Given the description of an element on the screen output the (x, y) to click on. 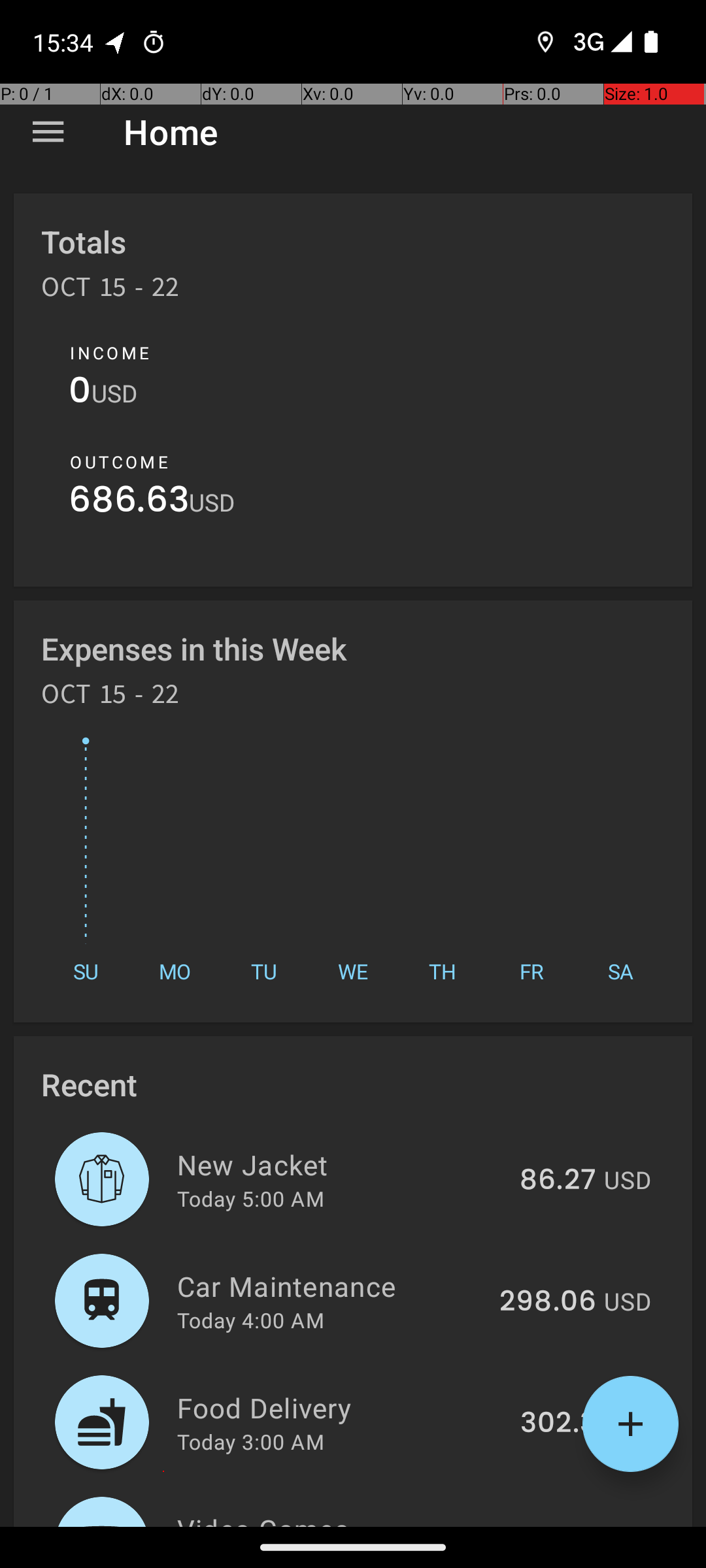
686.63 Element type: android.widget.TextView (128, 502)
New Jacket Element type: android.widget.TextView (340, 1164)
86.27 Element type: android.widget.TextView (557, 1180)
Car Maintenance Element type: android.widget.TextView (330, 1285)
298.06 Element type: android.widget.TextView (547, 1301)
Today 3:00 AM Element type: android.widget.TextView (250, 1441)
302.3 Element type: android.widget.TextView (557, 1423)
76.76 Element type: android.widget.TextView (557, 1524)
